Given the description of an element on the screen output the (x, y) to click on. 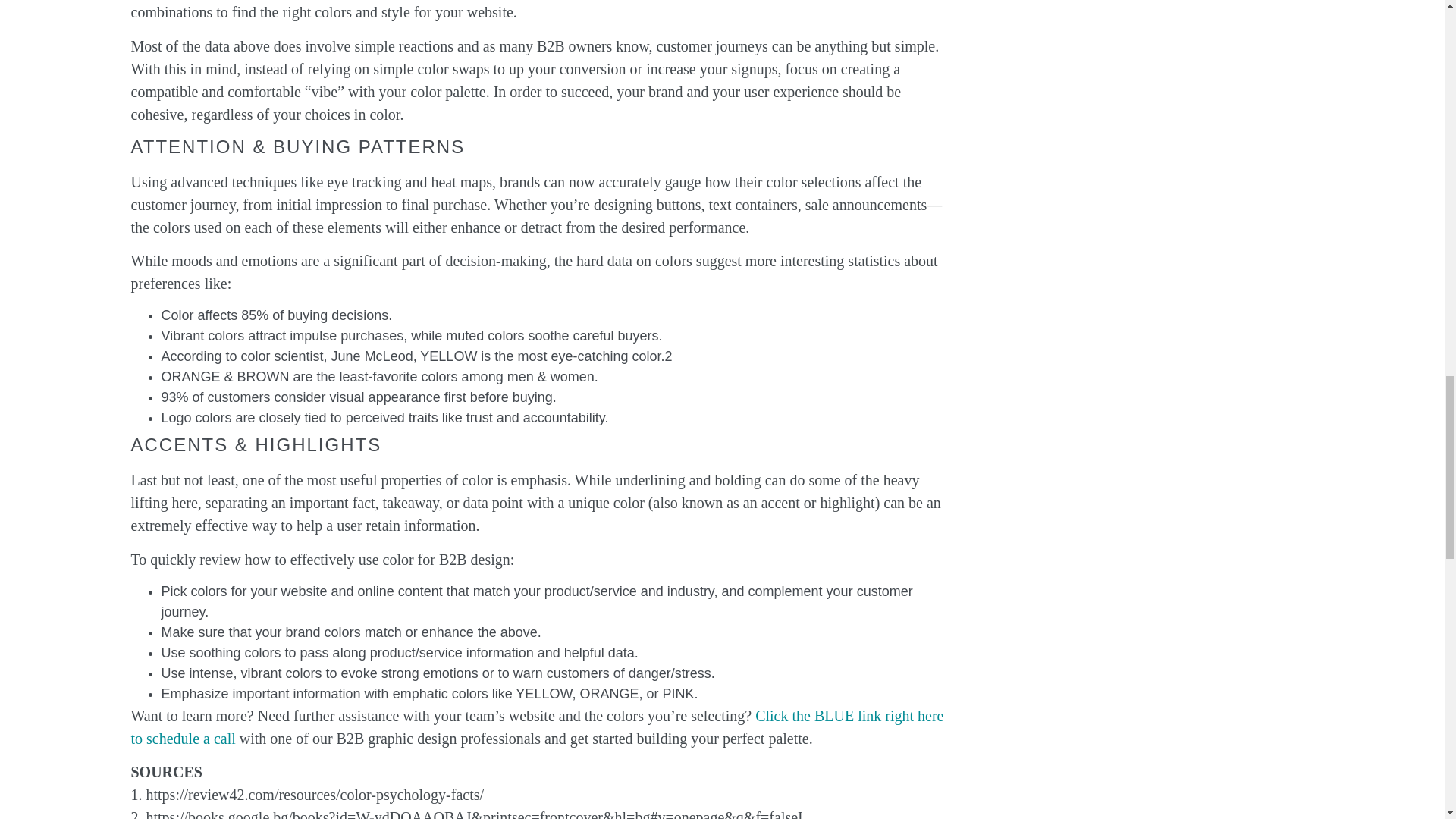
Click the BLUE link right here to schedule a call (537, 726)
